Given the description of an element on the screen output the (x, y) to click on. 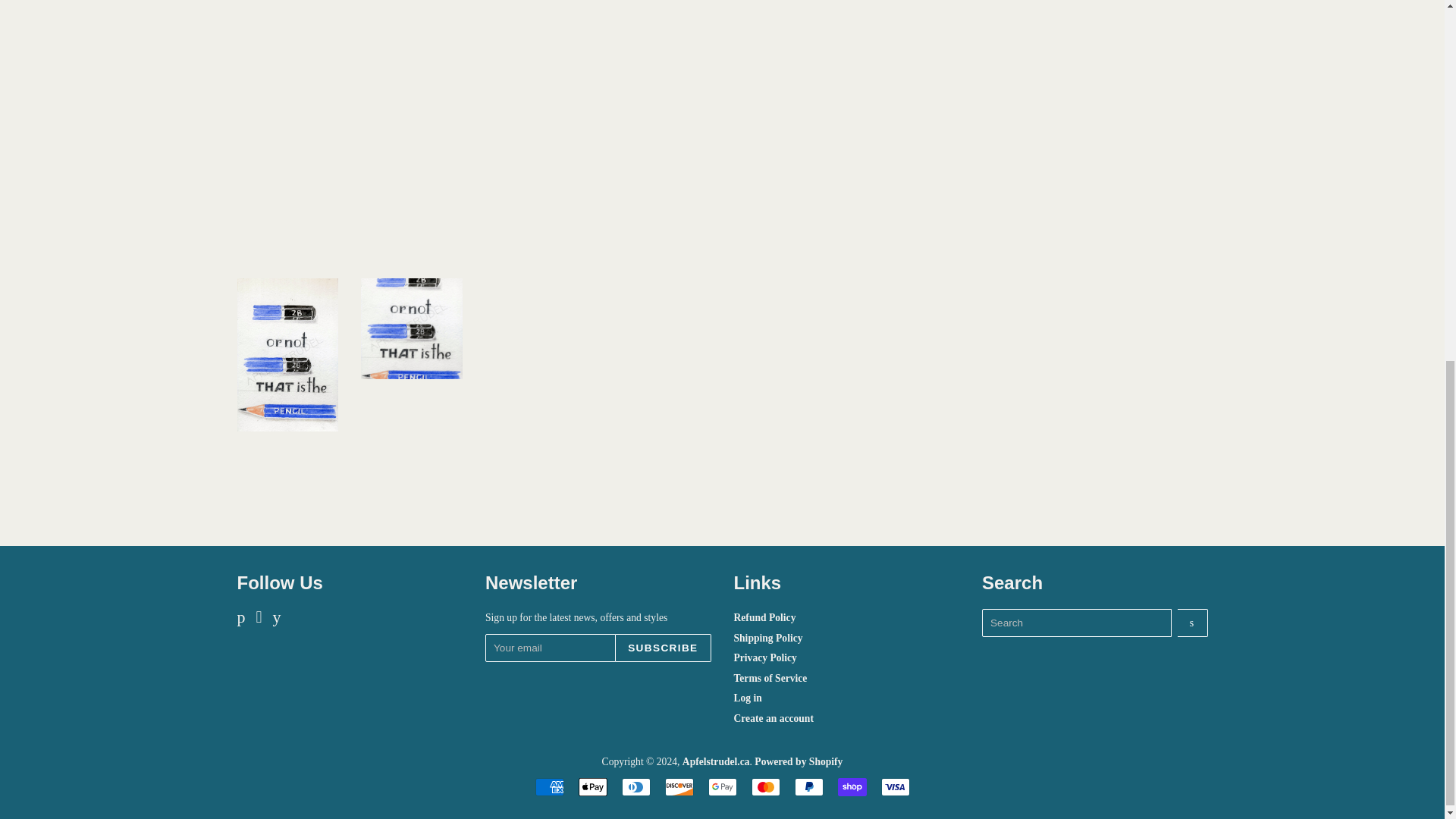
Diners Club (635, 787)
Visa (895, 787)
Discover (678, 787)
Subscribe (662, 647)
Shop Pay (851, 787)
Mastercard (764, 787)
PayPal (809, 787)
Apple Pay (592, 787)
Google Pay (721, 787)
American Express (549, 787)
